Given the description of an element on the screen output the (x, y) to click on. 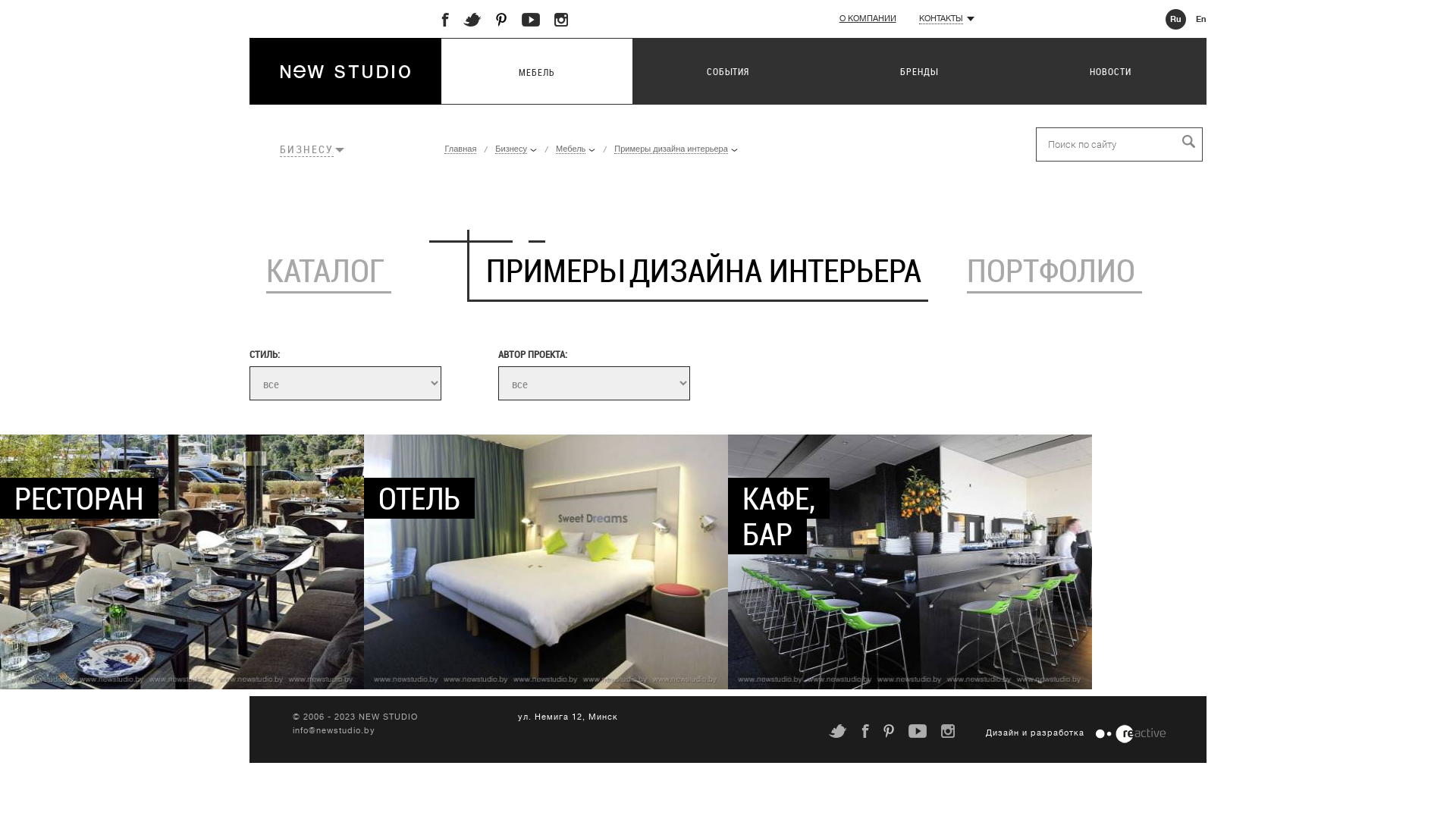
+375 (17) 221-82-95 Element type: text (1067, 19)
En Element type: text (1197, 19)
